Given the description of an element on the screen output the (x, y) to click on. 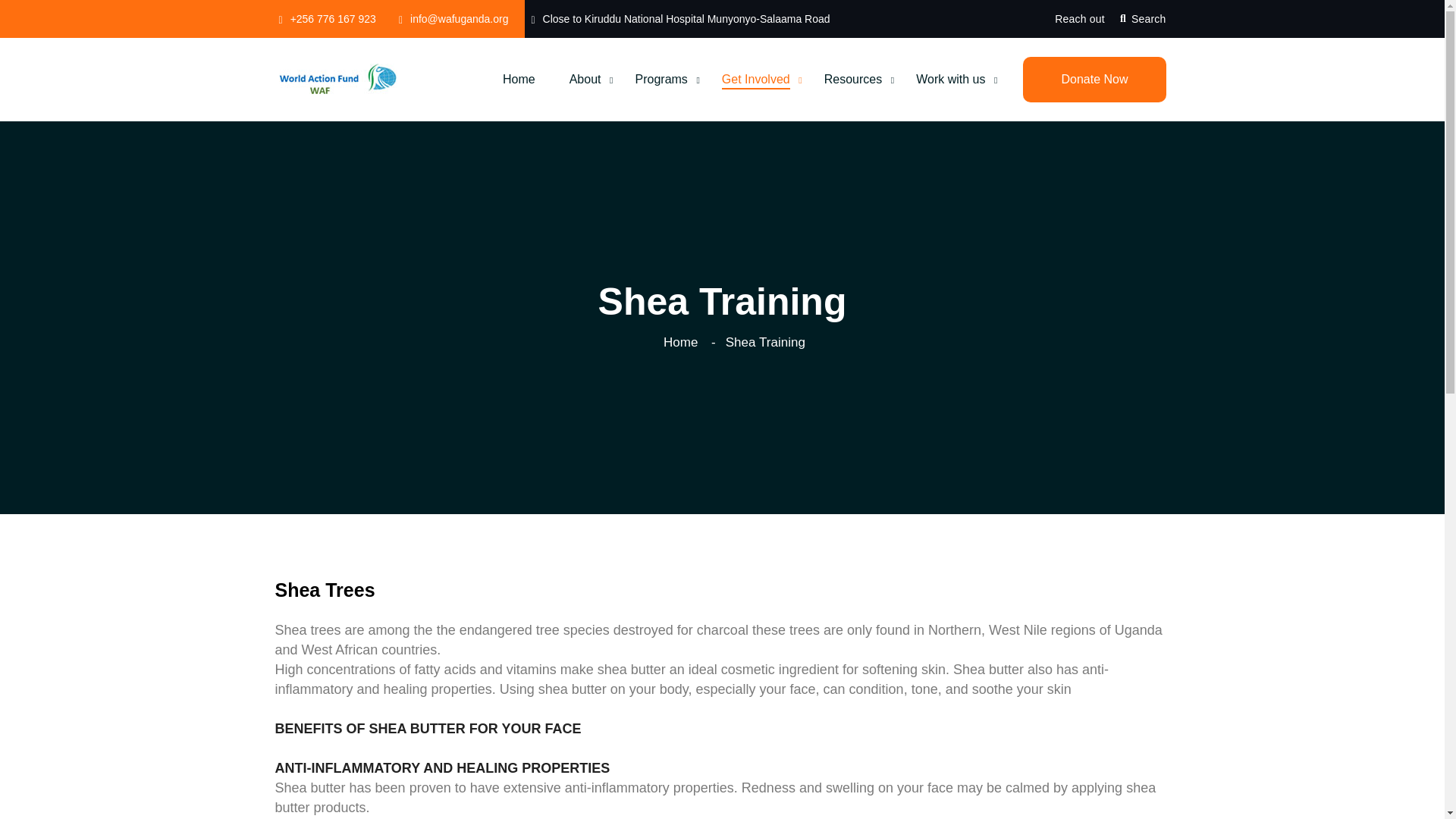
Home (518, 79)
About (585, 79)
Search (1142, 18)
World Action Fund (338, 78)
Programs (660, 79)
About (585, 79)
Home (518, 79)
Reach out (1079, 18)
Programs (660, 79)
